Given the description of an element on the screen output the (x, y) to click on. 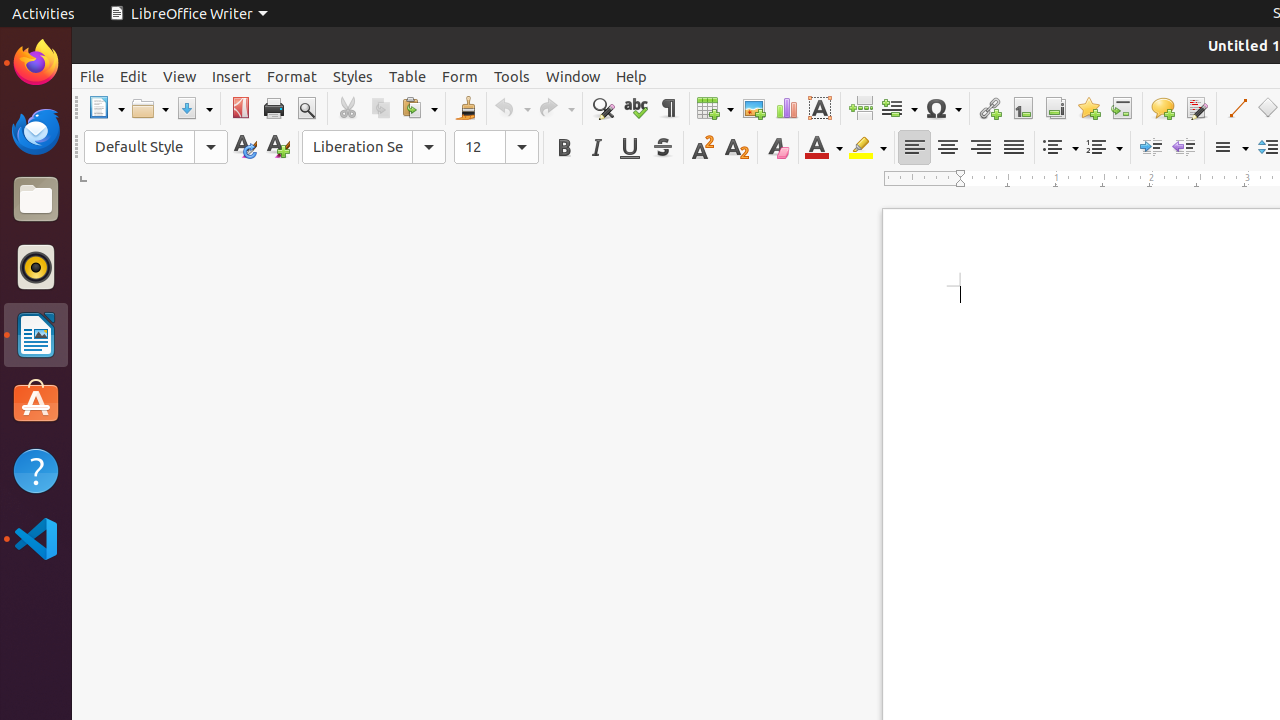
Highlight Color Element type: push-button (868, 147)
Line Element type: toggle-button (1236, 108)
Paste Element type: push-button (419, 108)
Tools Element type: menu (512, 76)
Center Element type: toggle-button (947, 147)
